Given the description of an element on the screen output the (x, y) to click on. 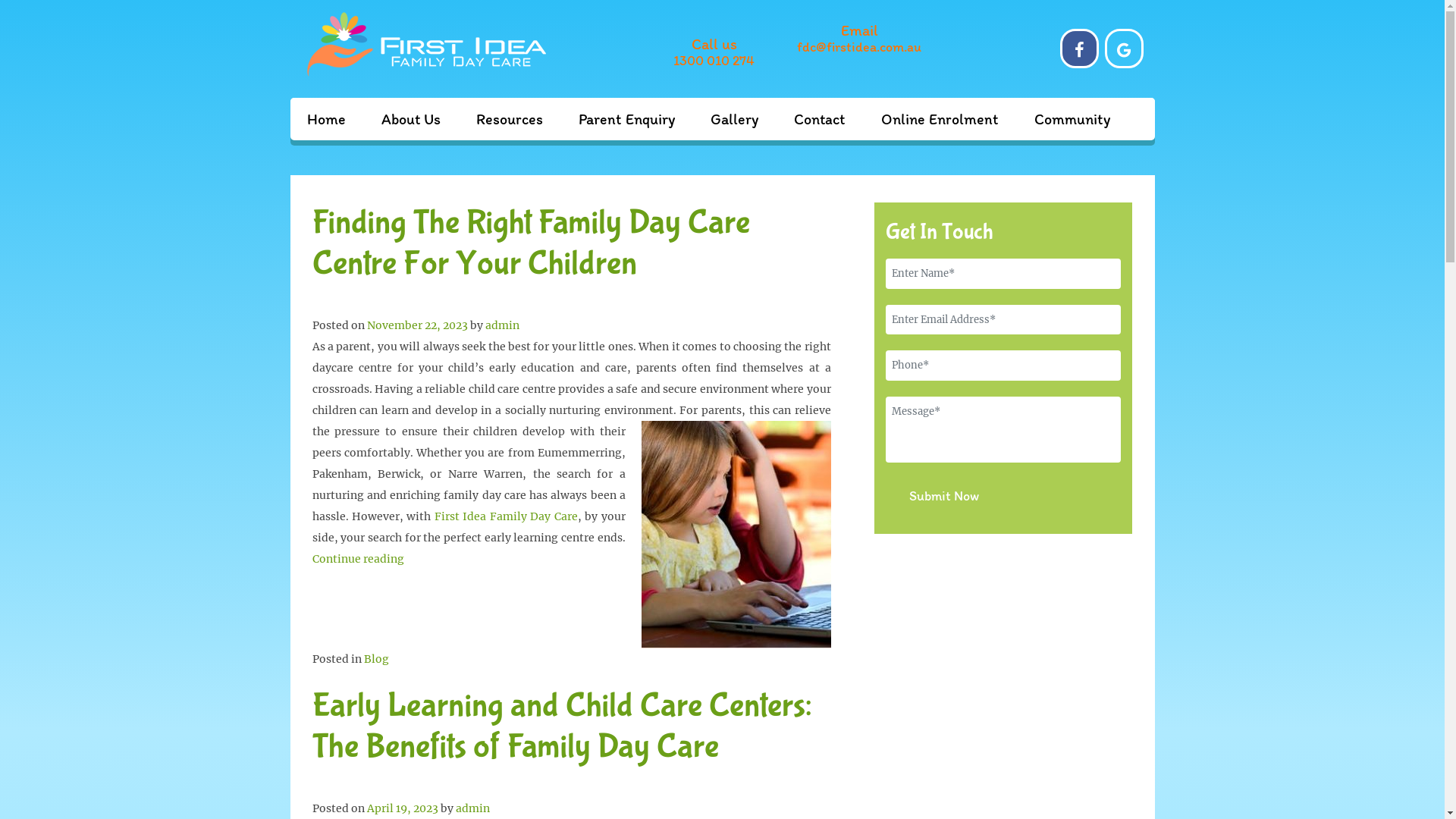
Contact Element type: text (818, 118)
Finding The Right Family Day Care Centre For Your Children Element type: text (530, 243)
Resources Element type: text (509, 118)
April 19, 2023 Element type: text (402, 808)
Online Enrolment Element type: text (939, 118)
Home Element type: text (325, 118)
First Idea Family Day Care Element type: text (505, 516)
Blog Element type: text (376, 658)
Parent Enquiry Element type: text (625, 118)
Community Element type: text (1071, 118)
admin Element type: text (502, 325)
admin Element type: text (472, 808)
1300 010 274 Element type: text (713, 60)
Gallery Element type: text (733, 118)
fdc@firstidea.com.au Element type: text (859, 46)
November 22, 2023 Element type: text (417, 325)
About Us Element type: text (410, 118)
Submit Now Element type: text (943, 495)
